Given the description of an element on the screen output the (x, y) to click on. 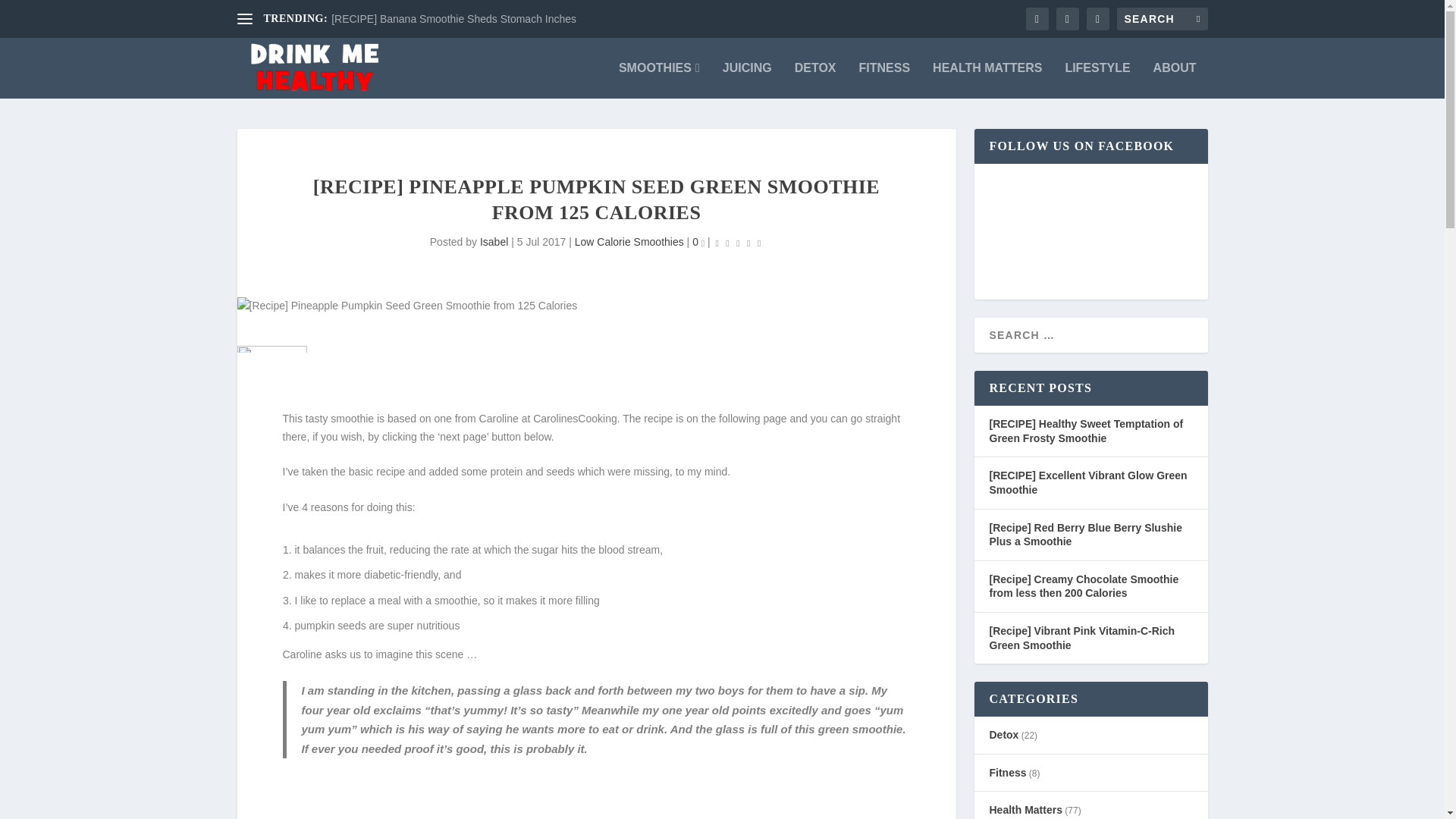
Low Calorie Smoothies (629, 241)
0 (698, 241)
SMOOTHIES (659, 80)
DETOX (814, 80)
FITNESS (885, 80)
ABOUT (1174, 80)
JUICING (746, 80)
Rating: 0.00 (737, 242)
HEALTH MATTERS (987, 80)
Posts by Isabel (494, 241)
